Given the description of an element on the screen output the (x, y) to click on. 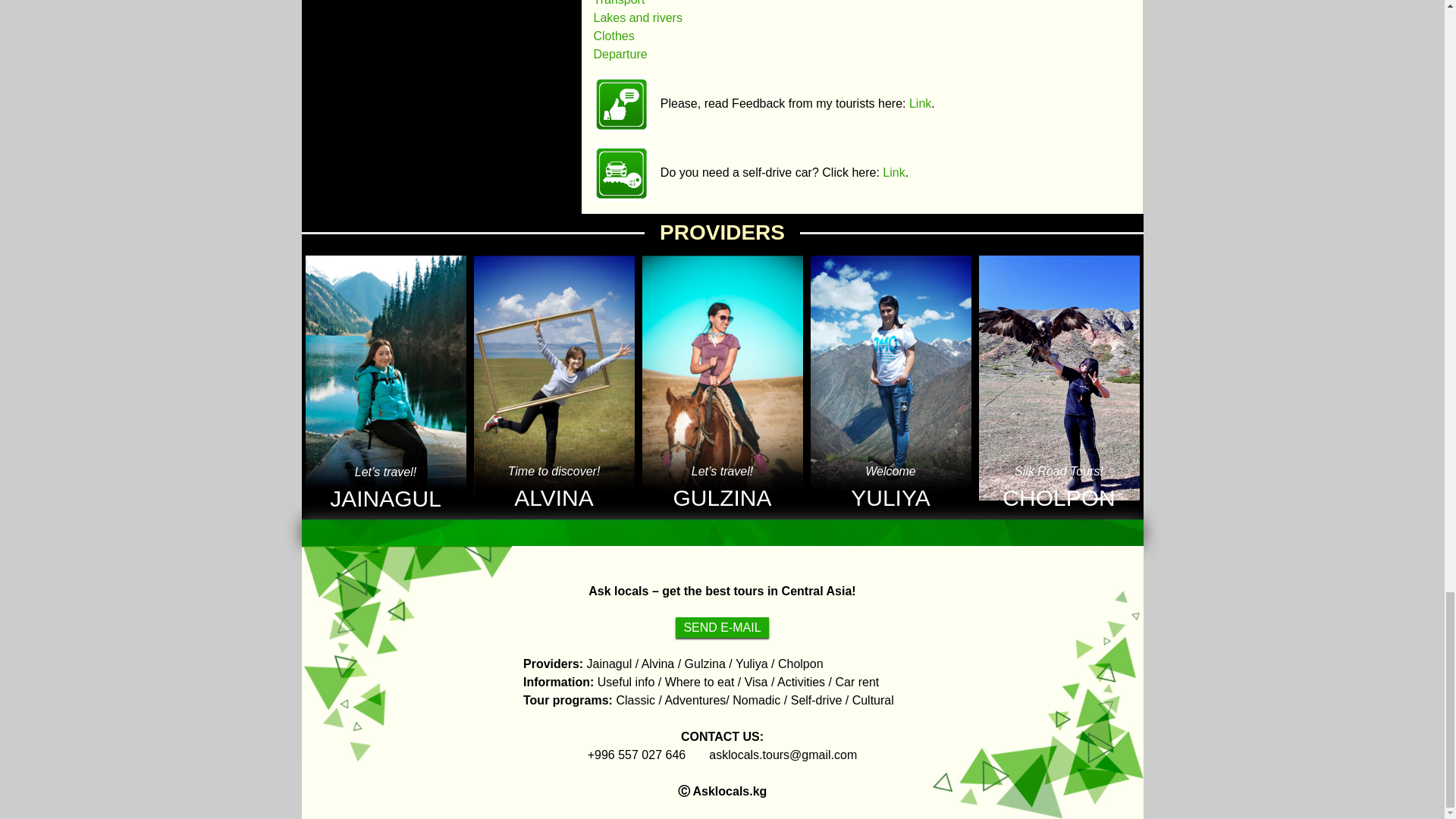
Lakes and rivers (636, 17)
Departure (619, 53)
Transport (618, 2)
Link (919, 103)
Clothes (612, 35)
Link (893, 172)
